Given the description of an element on the screen output the (x, y) to click on. 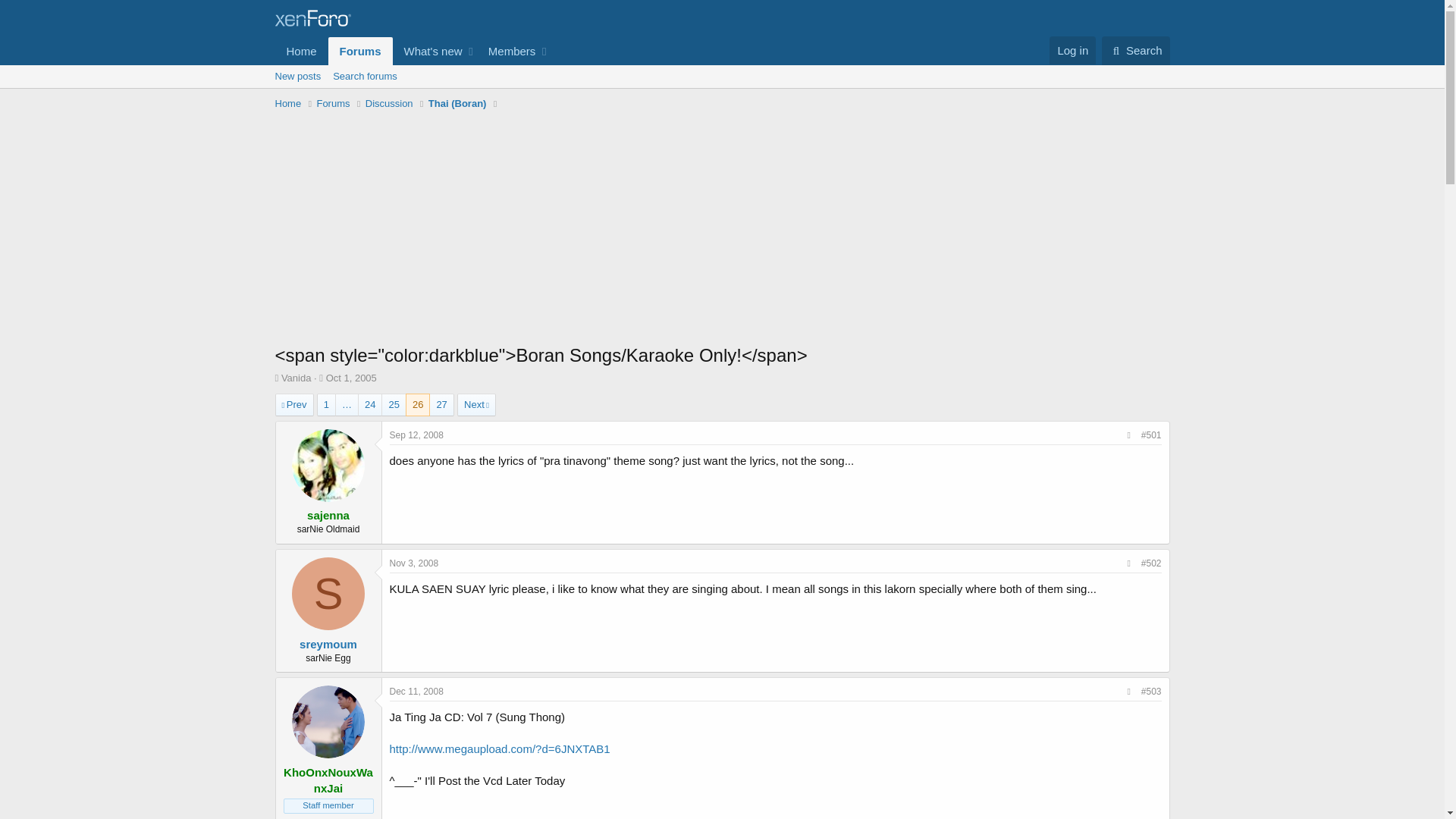
26 (417, 404)
Prev (294, 404)
Search (720, 76)
24 (1136, 50)
Advertisement (369, 404)
Home (361, 50)
Oct 1, 2005 at 8:30 PM (288, 103)
Vanida (351, 378)
